Given the description of an element on the screen output the (x, y) to click on. 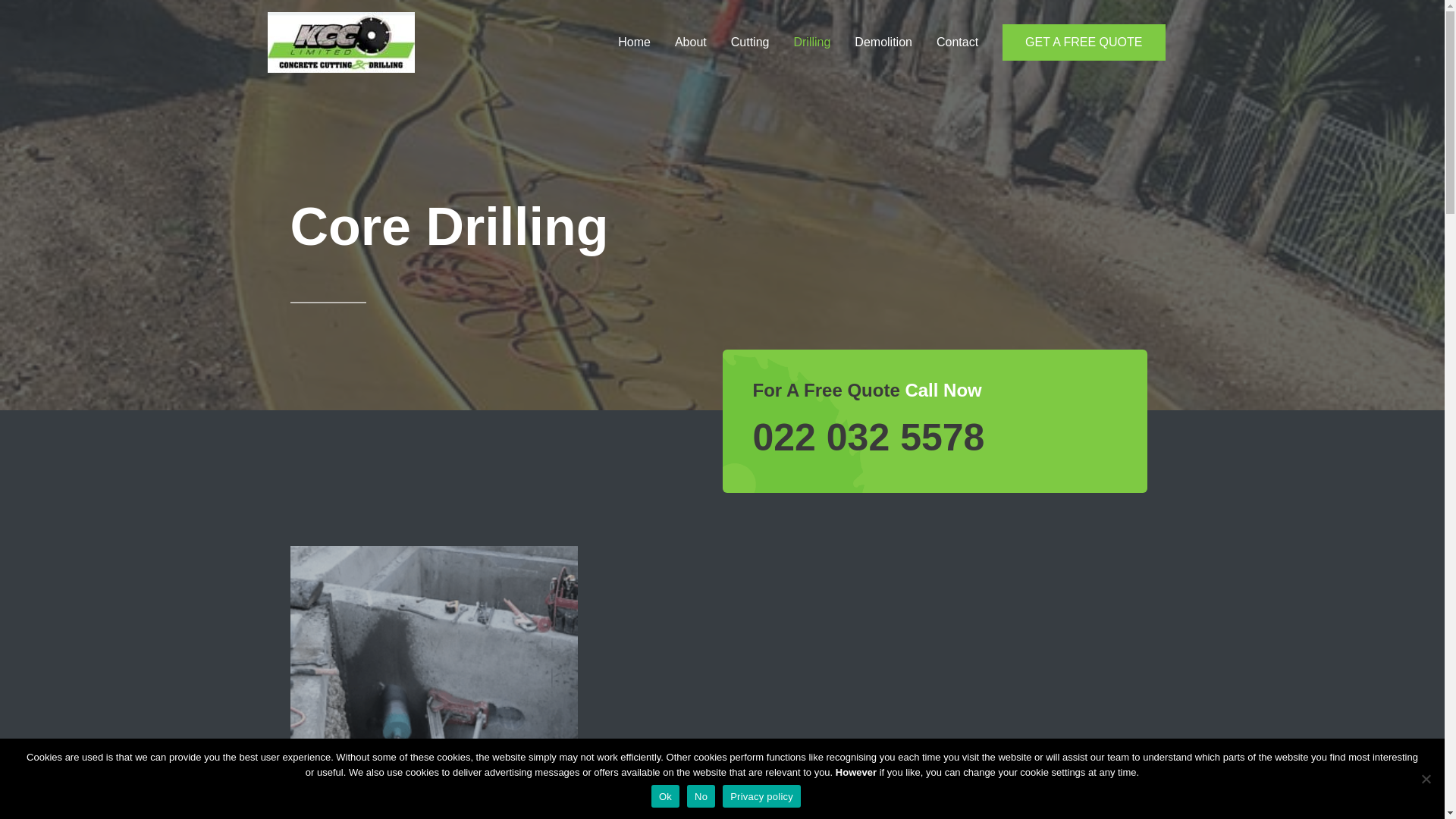
Home (633, 42)
Demolition (883, 42)
Privacy policy (761, 795)
About (690, 42)
Cutting (750, 42)
No (700, 795)
Ok (664, 795)
Drilling (811, 42)
GET A FREE QUOTE (1083, 42)
No (1425, 778)
022 032 5578 (868, 437)
Contact (957, 42)
